Given the description of an element on the screen output the (x, y) to click on. 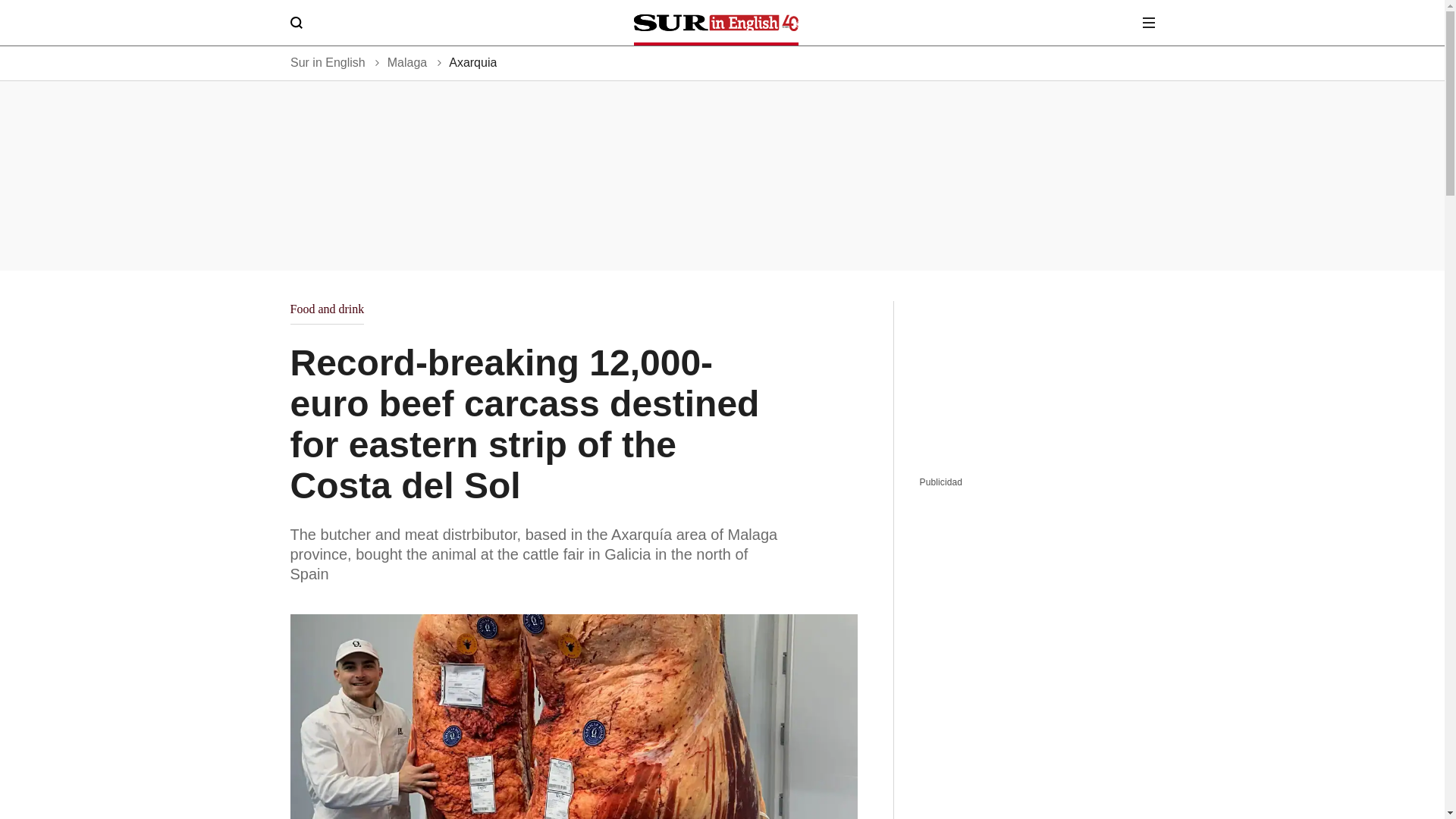
surinenglish (716, 22)
